Given the description of an element on the screen output the (x, y) to click on. 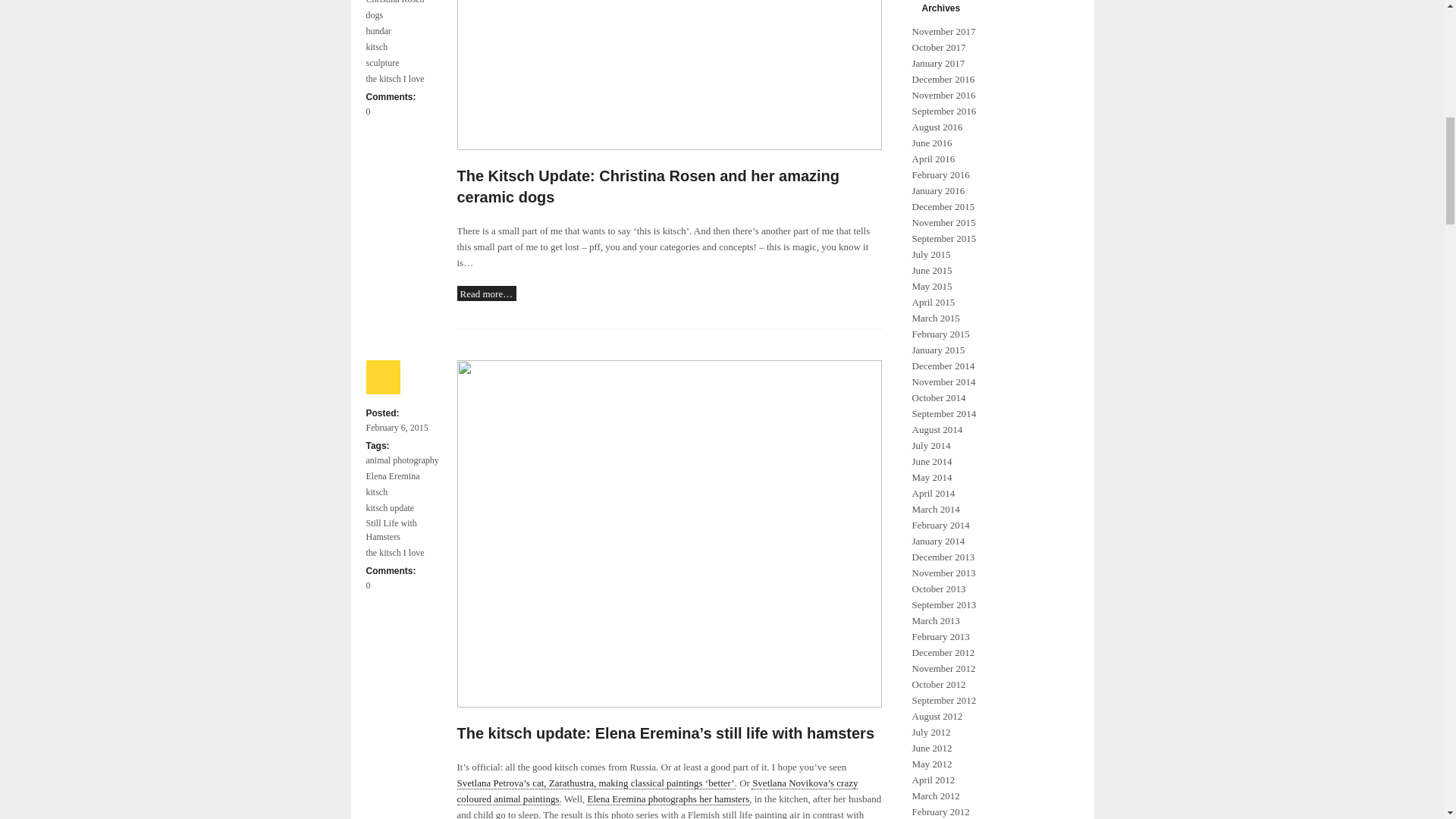
Christina Rosen (394, 2)
the kitsch I love (394, 552)
sculpture (381, 62)
dogs (373, 15)
kitsch update (389, 508)
kitsch (376, 491)
kitsch (376, 47)
